Given the description of an element on the screen output the (x, y) to click on. 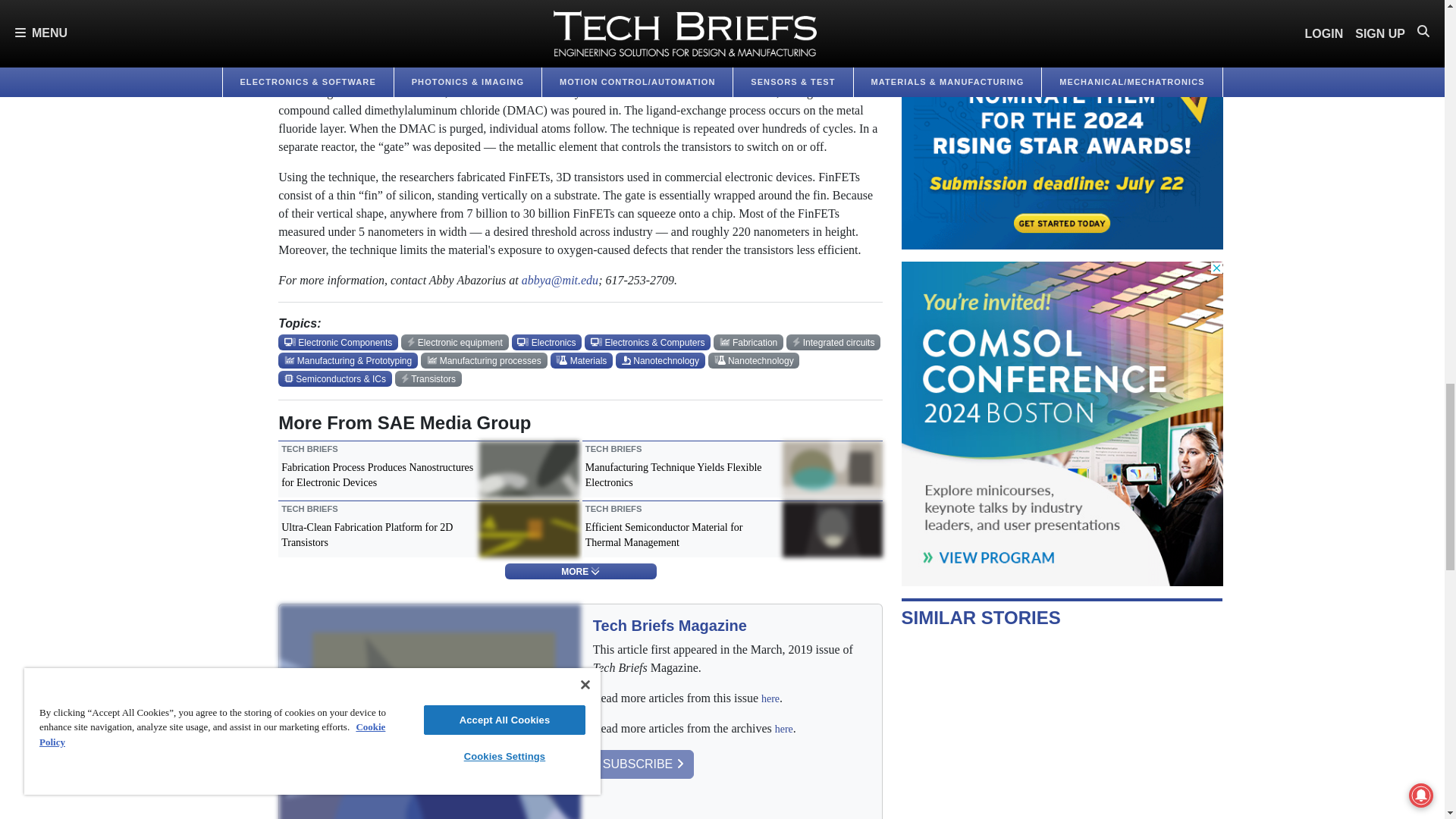
3rd party ad content (1062, 124)
3rd party ad content (1062, 423)
